Given the description of an element on the screen output the (x, y) to click on. 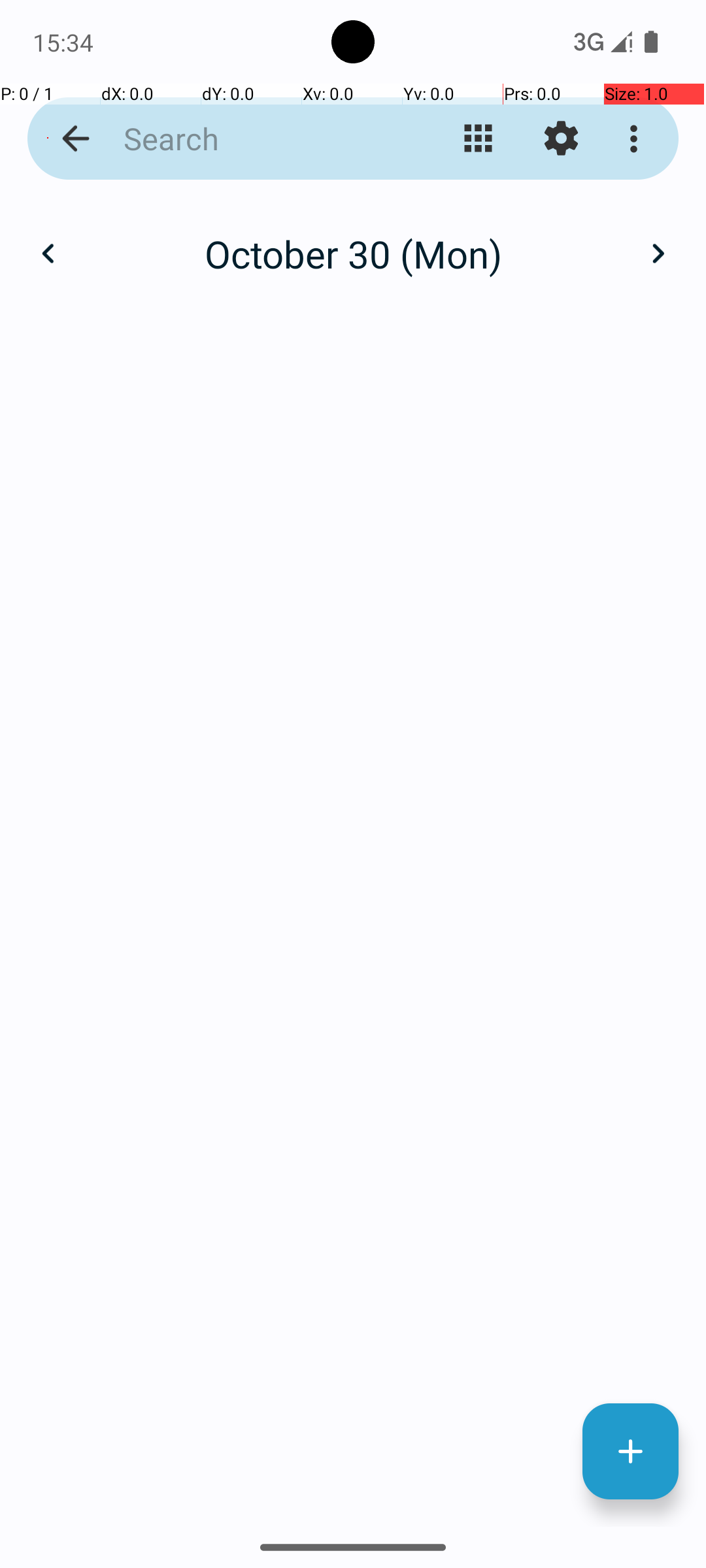
October 30 (Mon) Element type: android.widget.TextView (352, 253)
